Given the description of an element on the screen output the (x, y) to click on. 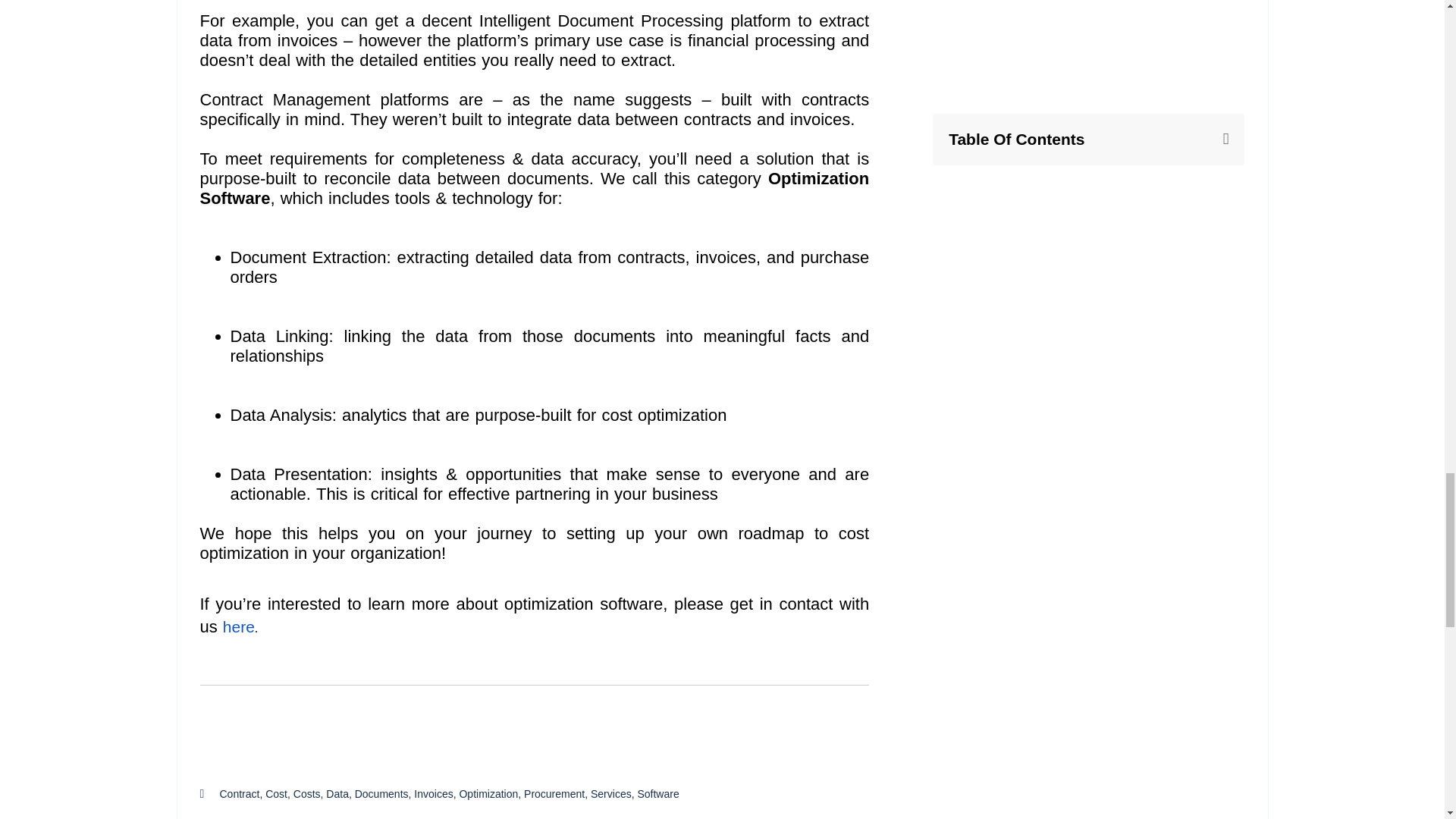
Costs (307, 793)
here (238, 626)
Data (337, 793)
Contract (239, 793)
Optimization (488, 793)
Procurement (554, 793)
Invoices (432, 793)
Documents (382, 793)
Services (611, 793)
Software (657, 793)
